Given the description of an element on the screen output the (x, y) to click on. 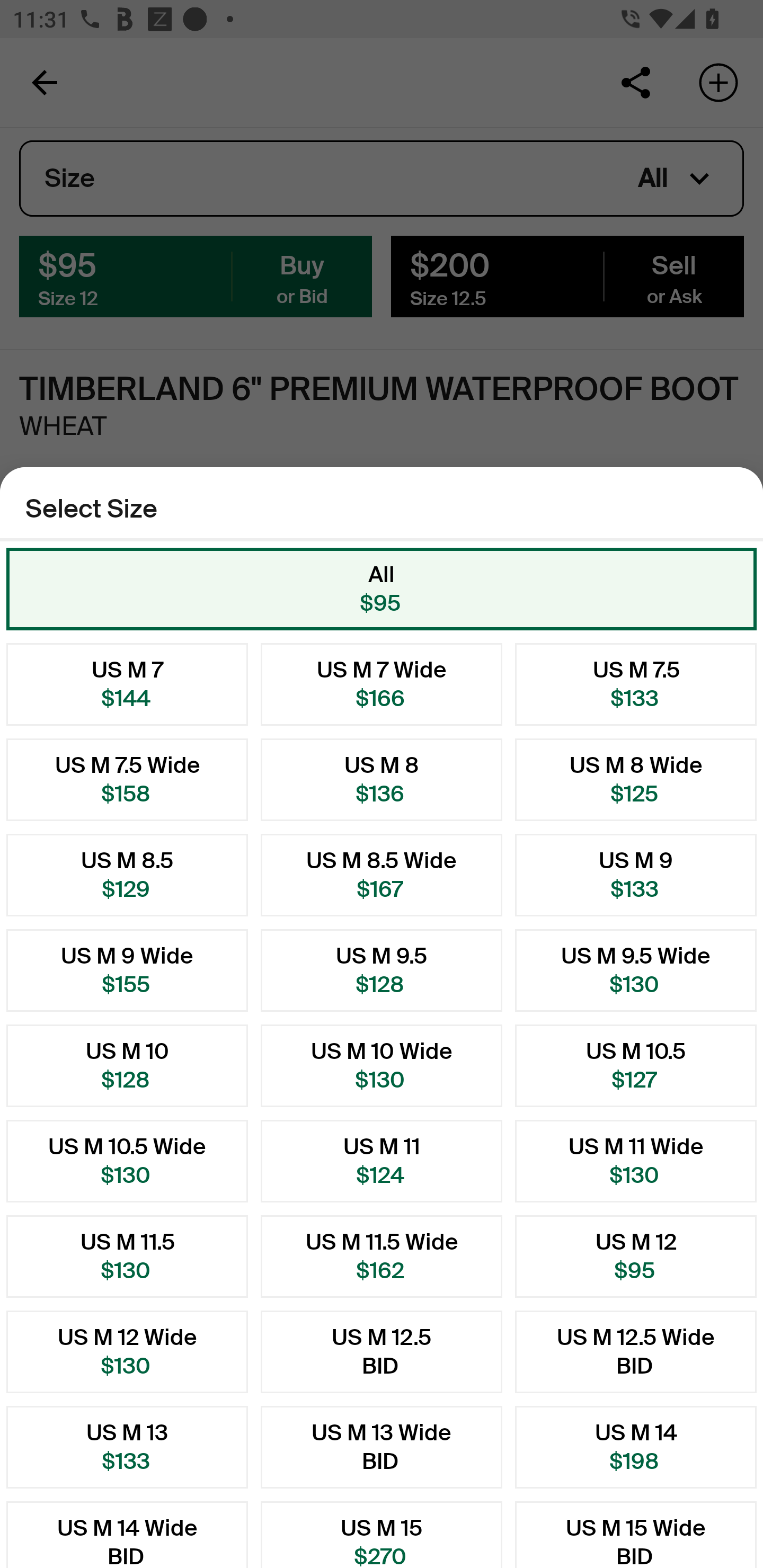
All $95 (381, 588)
US M 7 $144 (126, 683)
US M 7 Wide $166 (381, 683)
US M 7.5 $133 (635, 683)
US M 7.5 Wide $158 (126, 779)
US M 8 $136 (381, 779)
US M 8 Wide $125 (635, 779)
US M 8.5 $129 (126, 874)
US M 8.5 Wide $167 (381, 874)
US M 9 $133 (635, 874)
US M 9 Wide $155 (126, 970)
US M 9.5 $128 (381, 970)
US M 9.5 Wide $130 (635, 970)
US M 10 $128 (126, 1065)
US M 10 Wide $130 (381, 1065)
US M 10.5 $127 (635, 1065)
US M 10.5 Wide $130 (126, 1160)
US M 11 $124 (381, 1160)
US M 11 Wide $130 (635, 1160)
US M 11.5 $130 (126, 1256)
US M 11.5 Wide $162 (381, 1256)
US M 12 $95 (635, 1256)
US M 12 Wide $130 (126, 1351)
US M 12.5 BID (381, 1351)
US M 12.5 Wide BID (635, 1351)
US M 13 $133 (126, 1447)
US M 13 Wide BID (381, 1447)
US M 14 $198 (635, 1447)
US M 14 Wide BID (126, 1534)
US M 15 $270 (381, 1534)
US M 15 Wide BID (635, 1534)
